Given the description of an element on the screen output the (x, y) to click on. 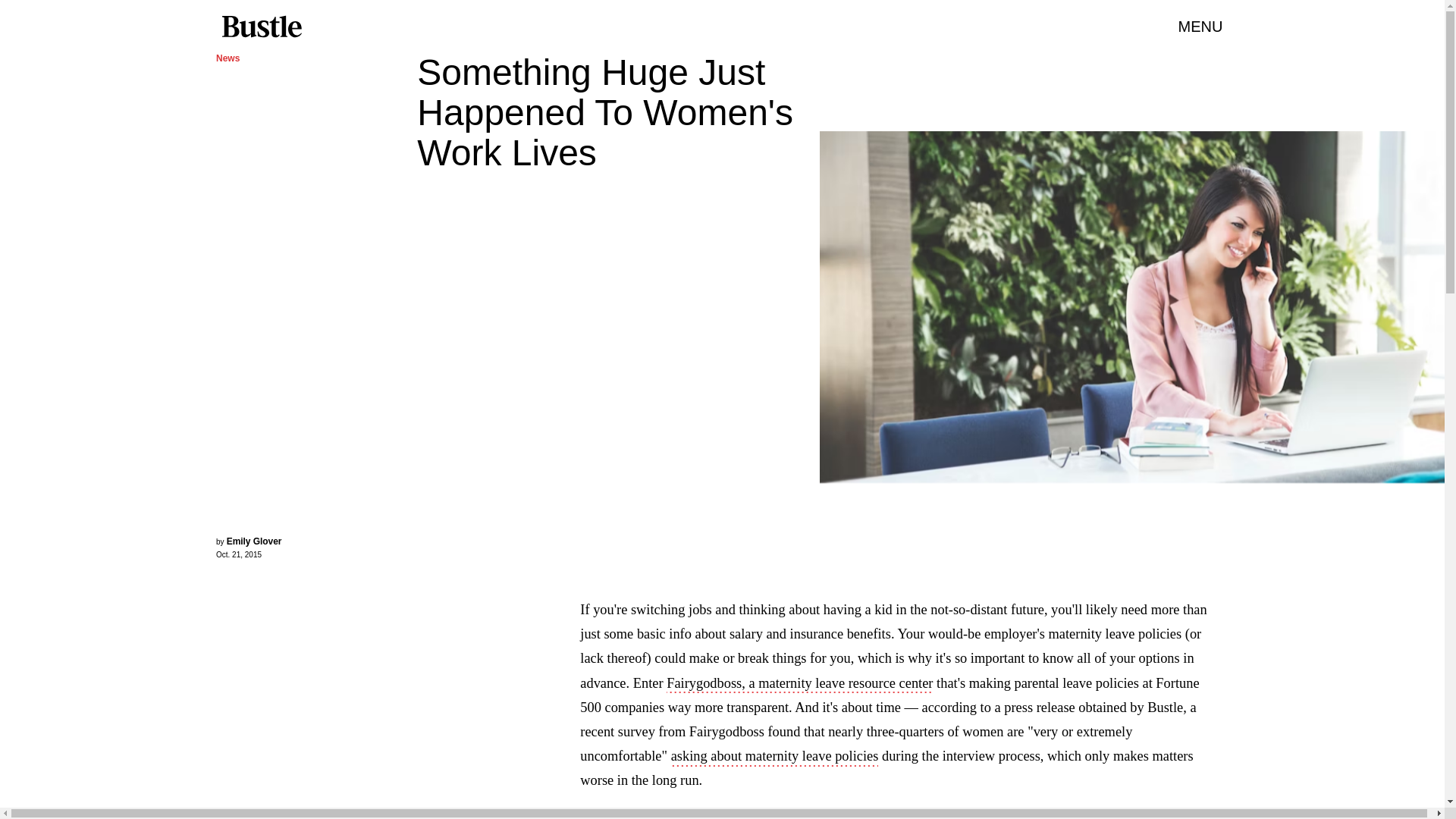
asking about maternity leave policies (775, 757)
Bustle (261, 26)
Fairygodboss, a maternity leave resource center (799, 684)
